Given the description of an element on the screen output the (x, y) to click on. 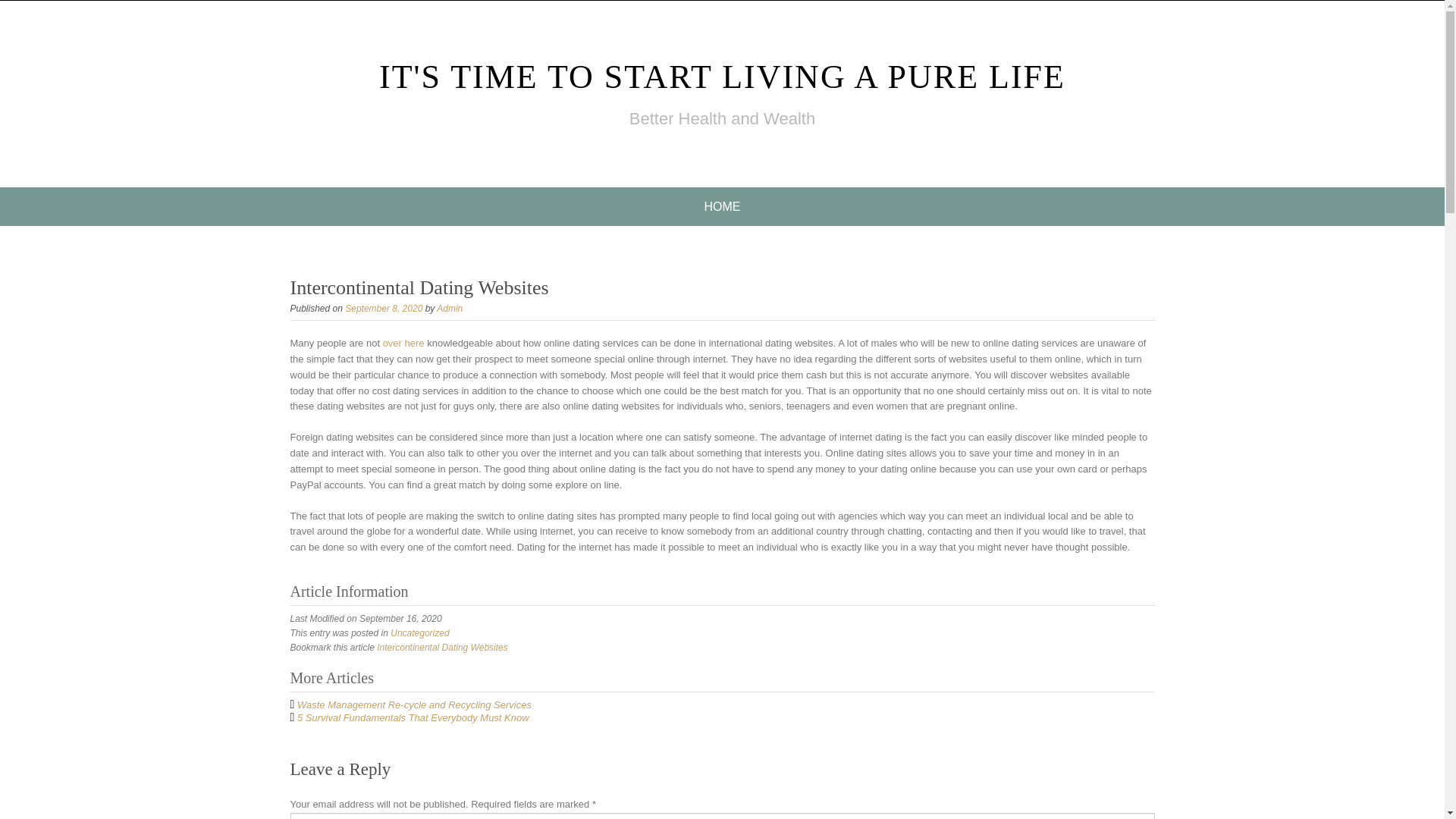
HOME (721, 206)
Waste Management Re-cycle and Recycling Services (414, 704)
IT'S TIME TO START LIVING A PURE LIFE (721, 76)
Intercontinental Dating Websites (442, 647)
Uncategorized (419, 633)
September 8, 2020 (383, 308)
5 Survival Fundamentals That Everybody Must Know (413, 717)
Admin (449, 308)
